Given the description of an element on the screen output the (x, y) to click on. 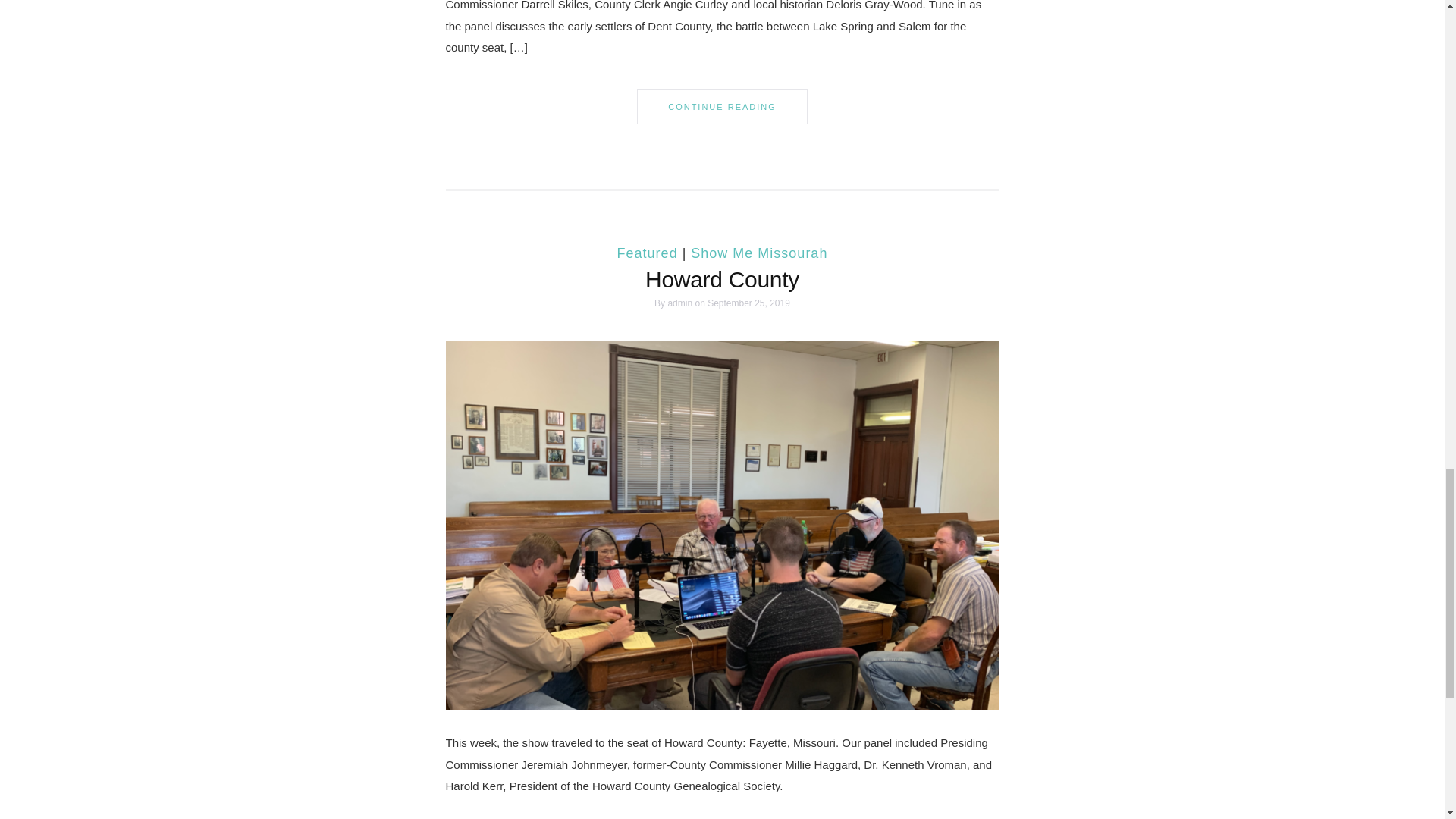
Posts by admin (679, 303)
Howard County (721, 524)
CONTINUE READING (722, 107)
Show Me Missourah (758, 253)
Featured (647, 253)
admin (679, 303)
Howard County (722, 278)
